Given the description of an element on the screen output the (x, y) to click on. 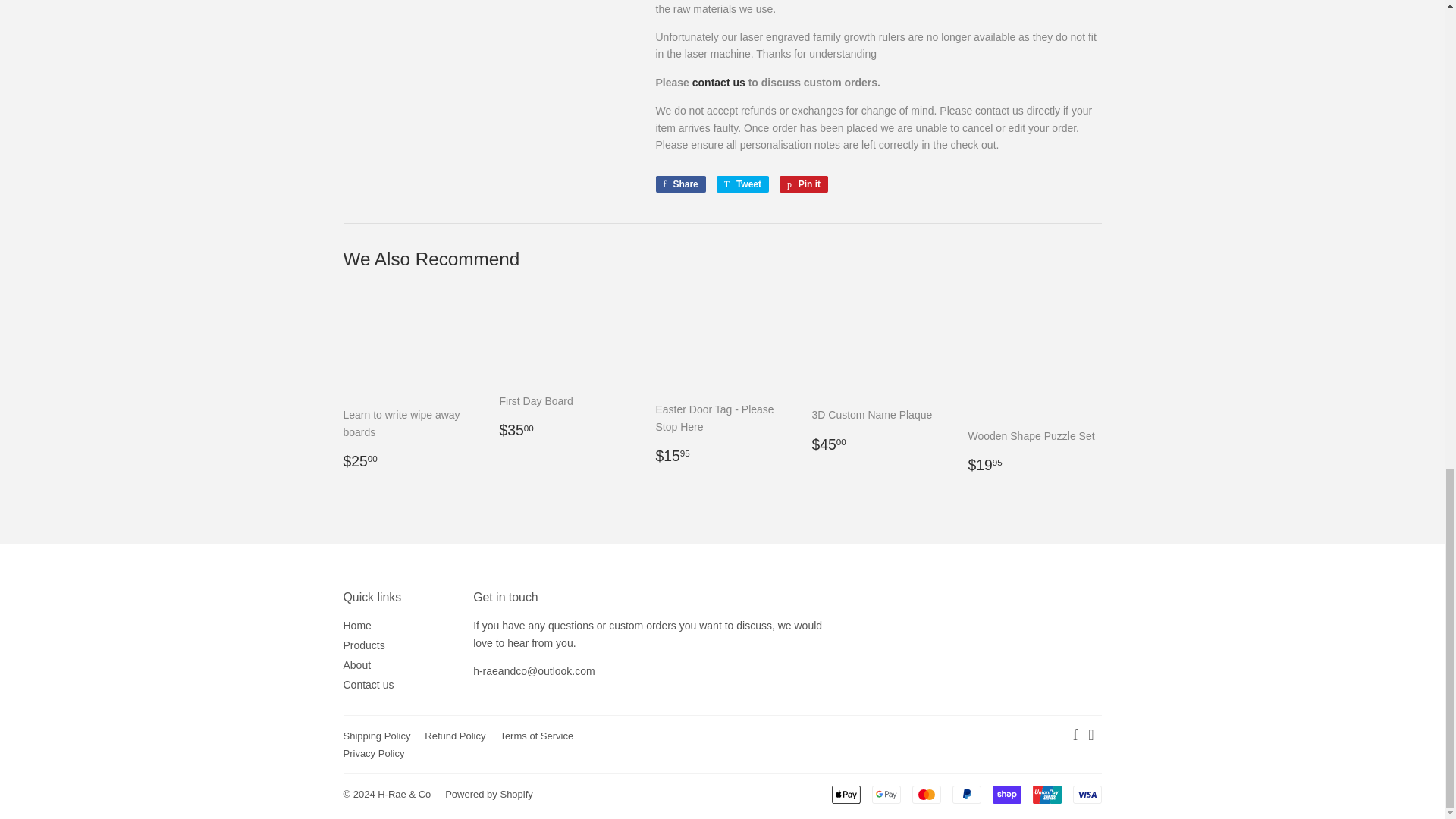
Mastercard (925, 794)
Visa (1085, 794)
Pin on Pinterest (803, 184)
Tweet on Twitter (742, 184)
Share on Facebook (679, 184)
Shop Pay (1005, 794)
Union Pay (1046, 794)
Google Pay (886, 794)
Contact us (534, 671)
Apple Pay (845, 794)
Custom item - Contact us (719, 82)
PayPal (966, 794)
